Given the description of an element on the screen output the (x, y) to click on. 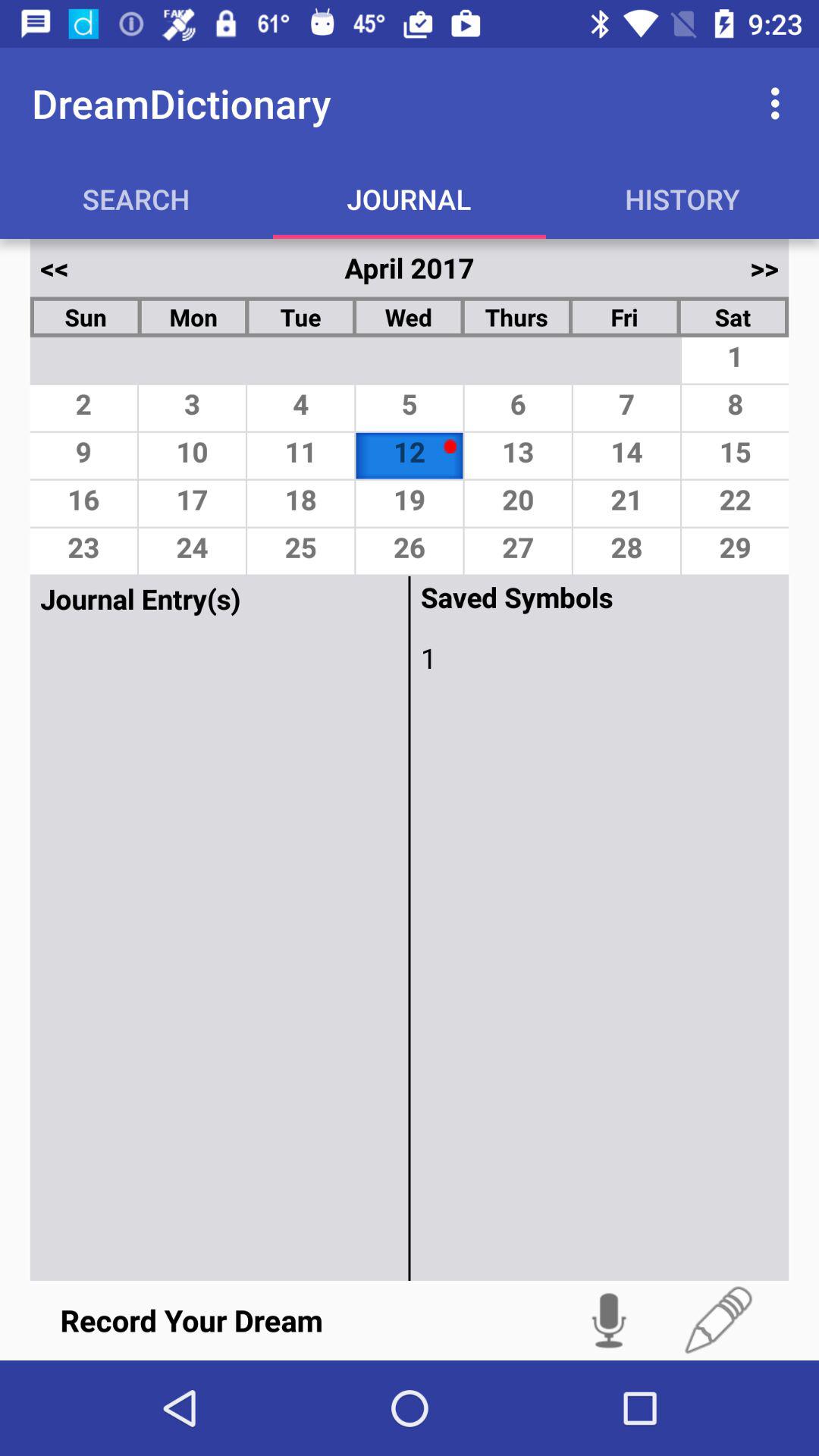
launch icon next to dreamdictionary (779, 103)
